Given the description of an element on the screen output the (x, y) to click on. 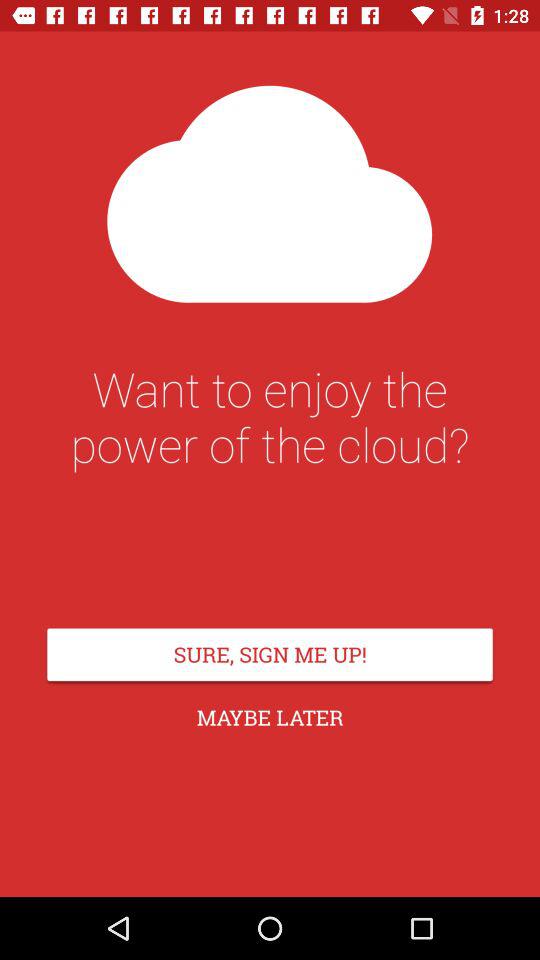
launch the item below the sure sign me (269, 717)
